Given the description of an element on the screen output the (x, y) to click on. 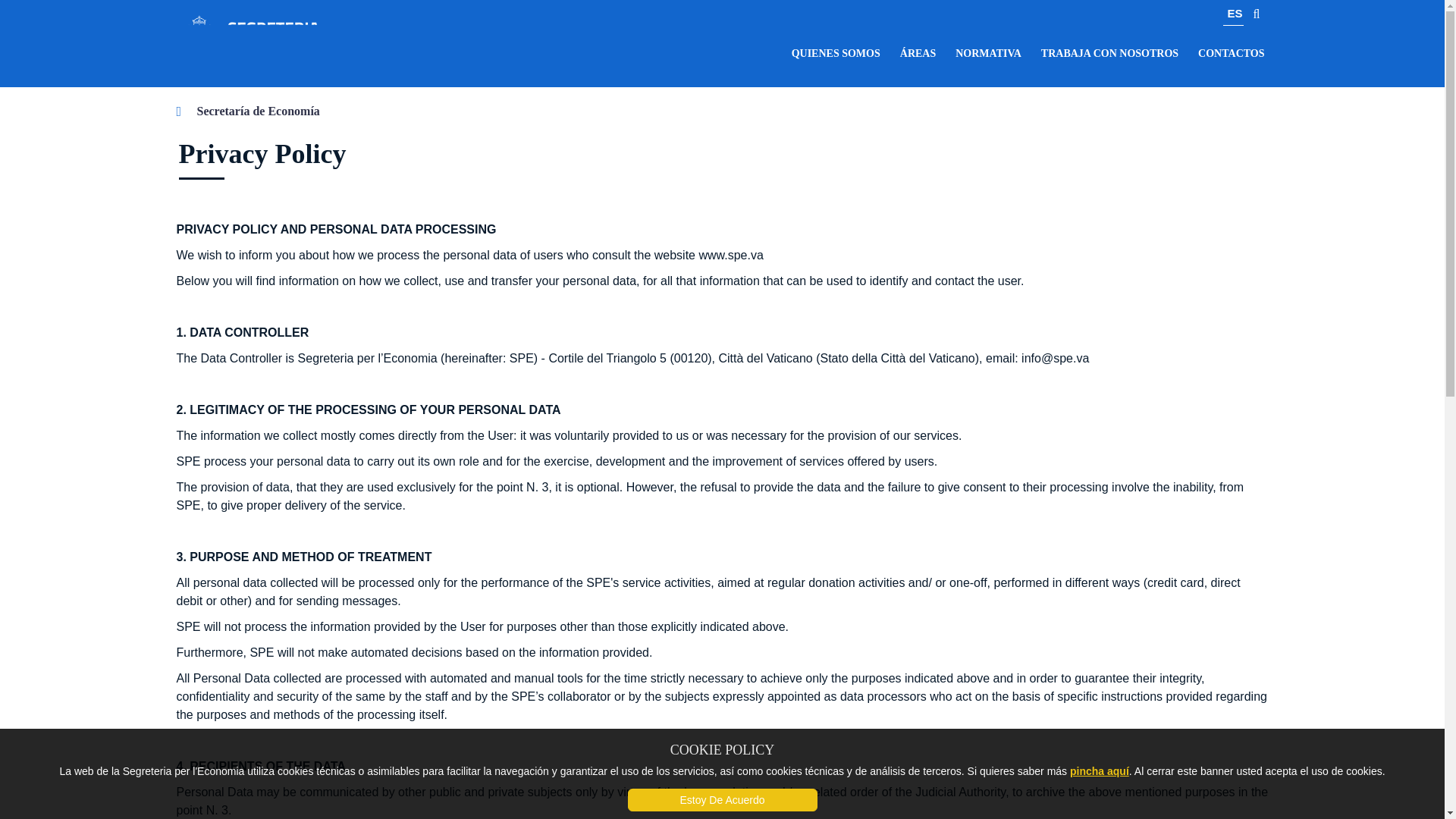
TRABAJA CON NOSOTROS (1109, 53)
Estoy De Acuerdo (721, 799)
ES (1233, 14)
QUIENES SOMOS (835, 53)
NORMATIVA (988, 53)
CONTACTOS (1230, 53)
